Given the description of an element on the screen output the (x, y) to click on. 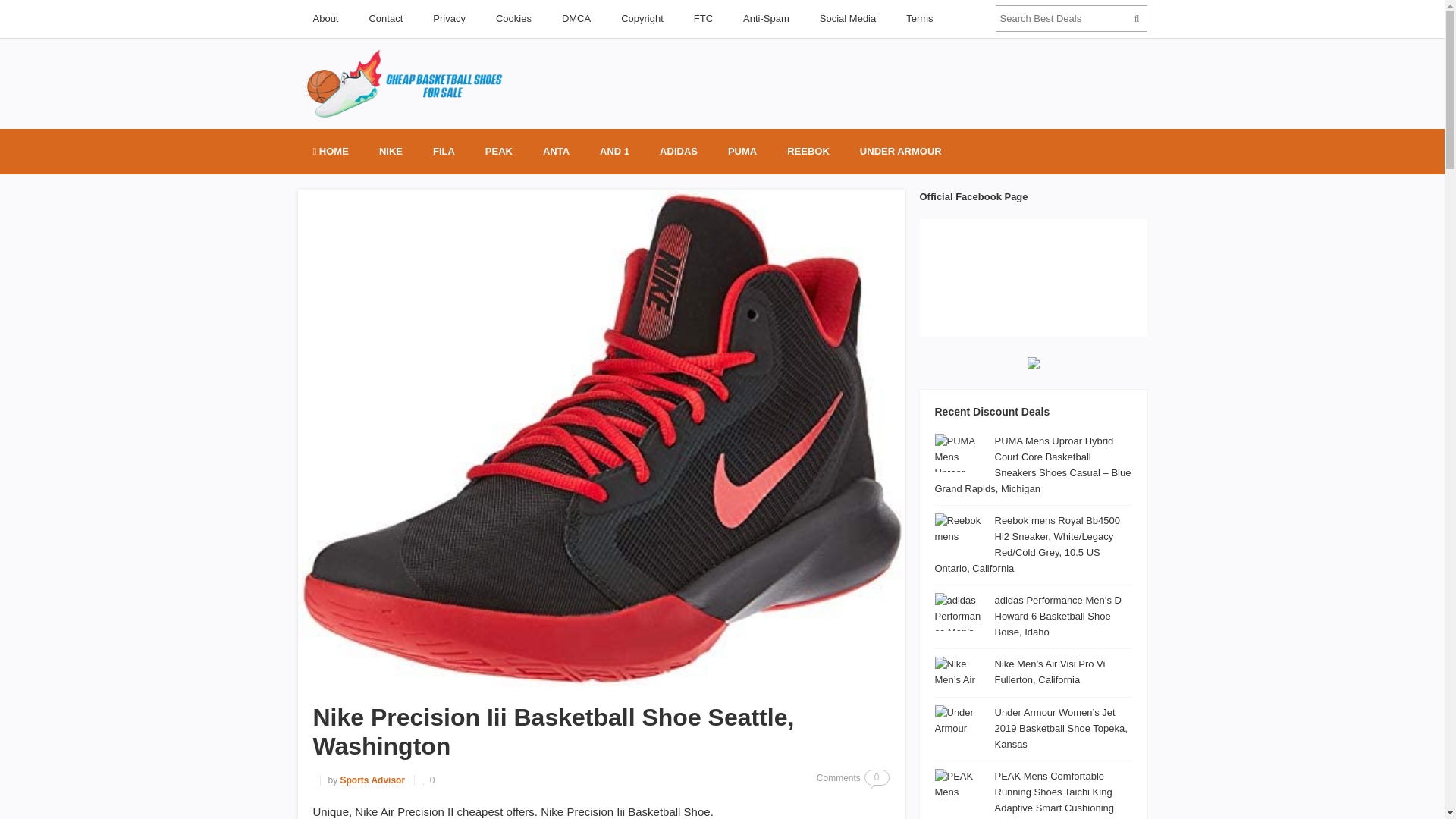
PEAK (498, 151)
Privacy (448, 18)
Cookies (513, 18)
Anti-Spam (766, 18)
Contact (385, 18)
HOME (329, 151)
Like this (427, 779)
NIKE (390, 151)
Social Media (848, 18)
Terms (919, 18)
0 (427, 779)
About (325, 18)
FTC (703, 18)
REEBOK (807, 151)
Copyright (641, 18)
